Given the description of an element on the screen output the (x, y) to click on. 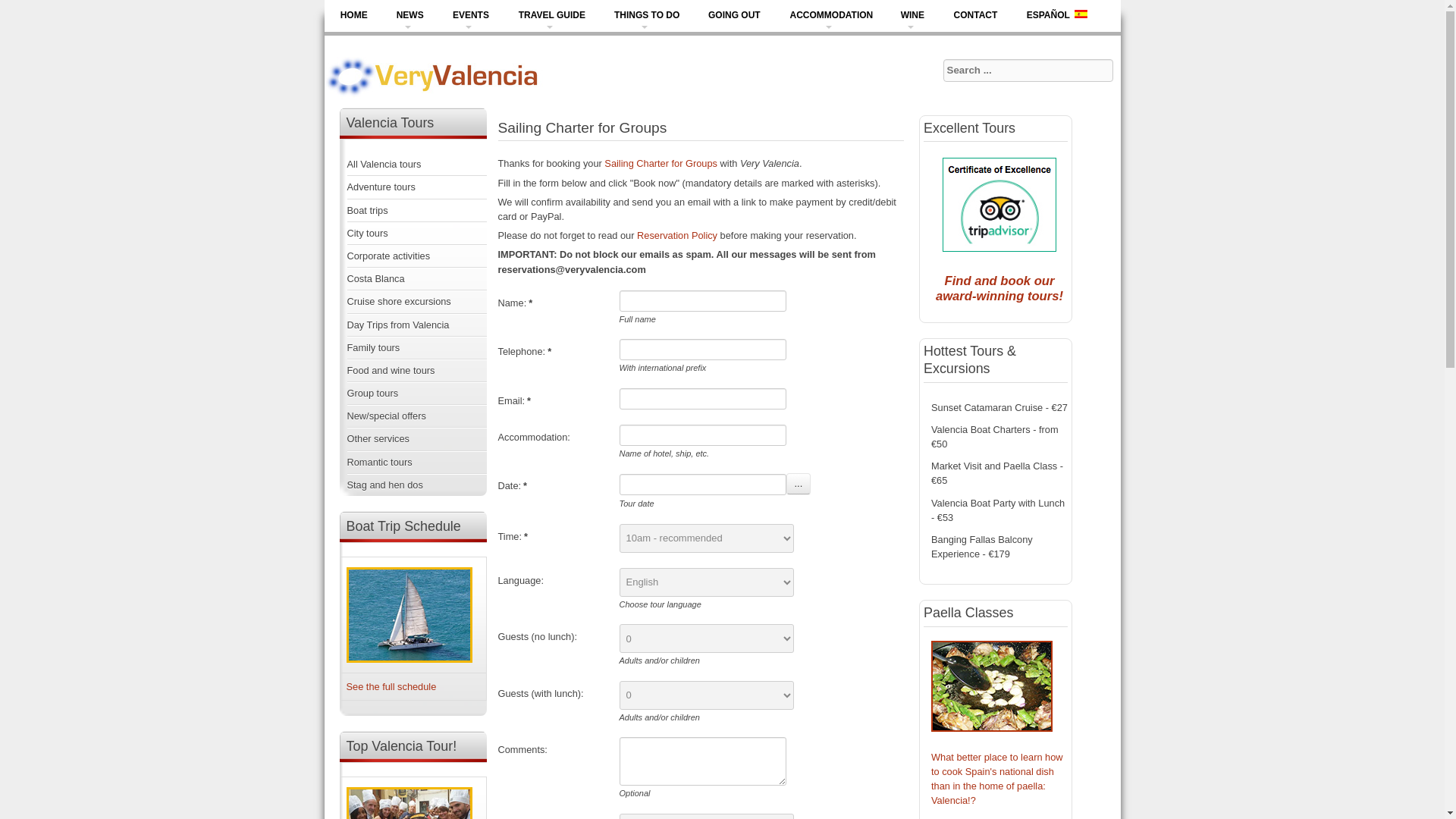
Valencia Paella Cooking Classes (996, 778)
Boat Trip Schedule (390, 686)
TRAVEL GUIDE (549, 18)
... (798, 483)
HOME (352, 18)
EVENTS (469, 18)
Valencia Paella Cooking Classes (991, 727)
See our reviews on Trip Advisor (999, 251)
THINGS TO DO (644, 18)
